Given the description of an element on the screen output the (x, y) to click on. 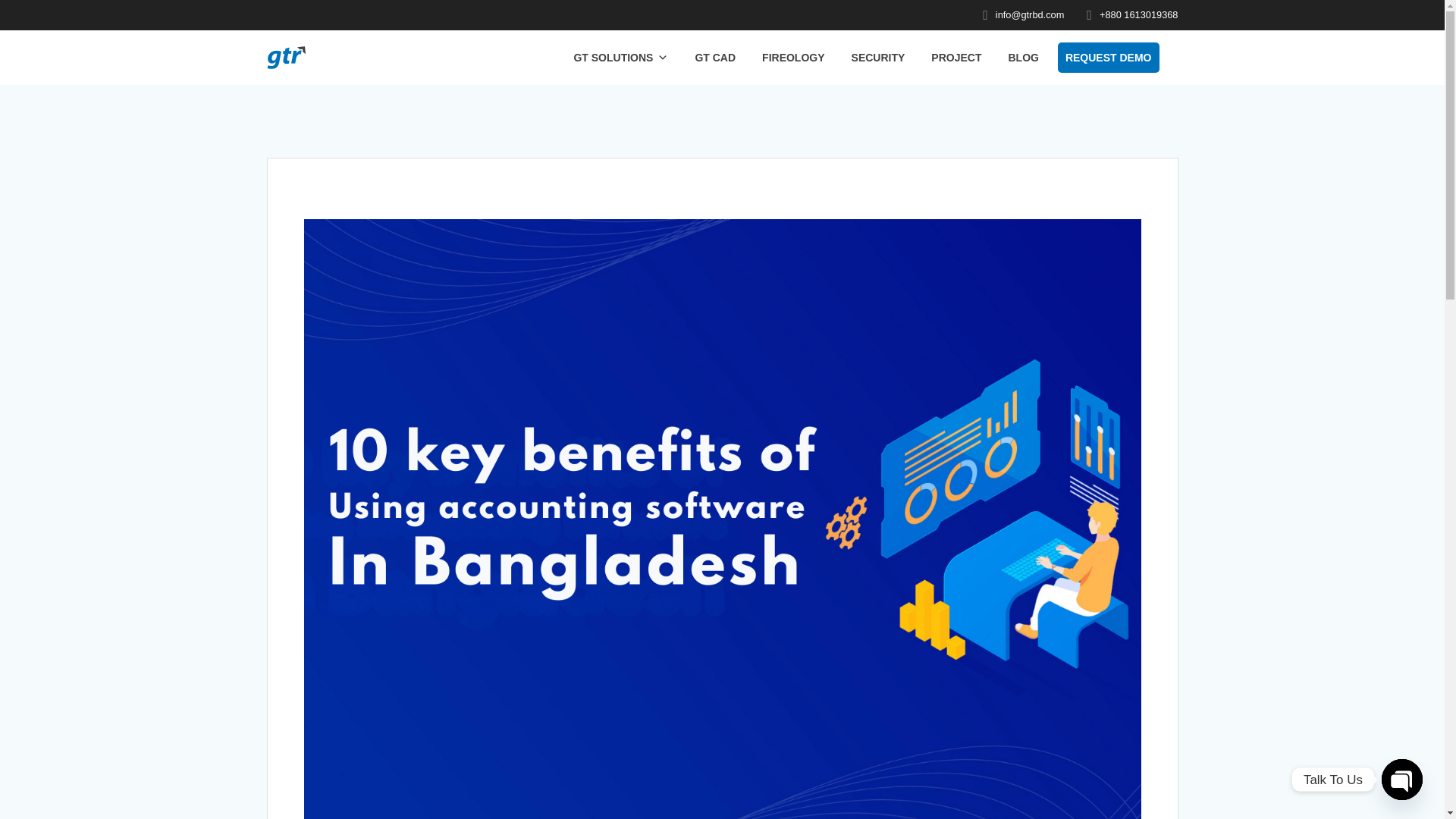
REQUEST DEMO (1108, 57)
GT SOLUTIONS (620, 57)
SECURITY (878, 57)
PROJECT (955, 57)
BLOG (1022, 57)
FIREOLOGY (792, 57)
GT CAD (714, 57)
